Given the description of an element on the screen output the (x, y) to click on. 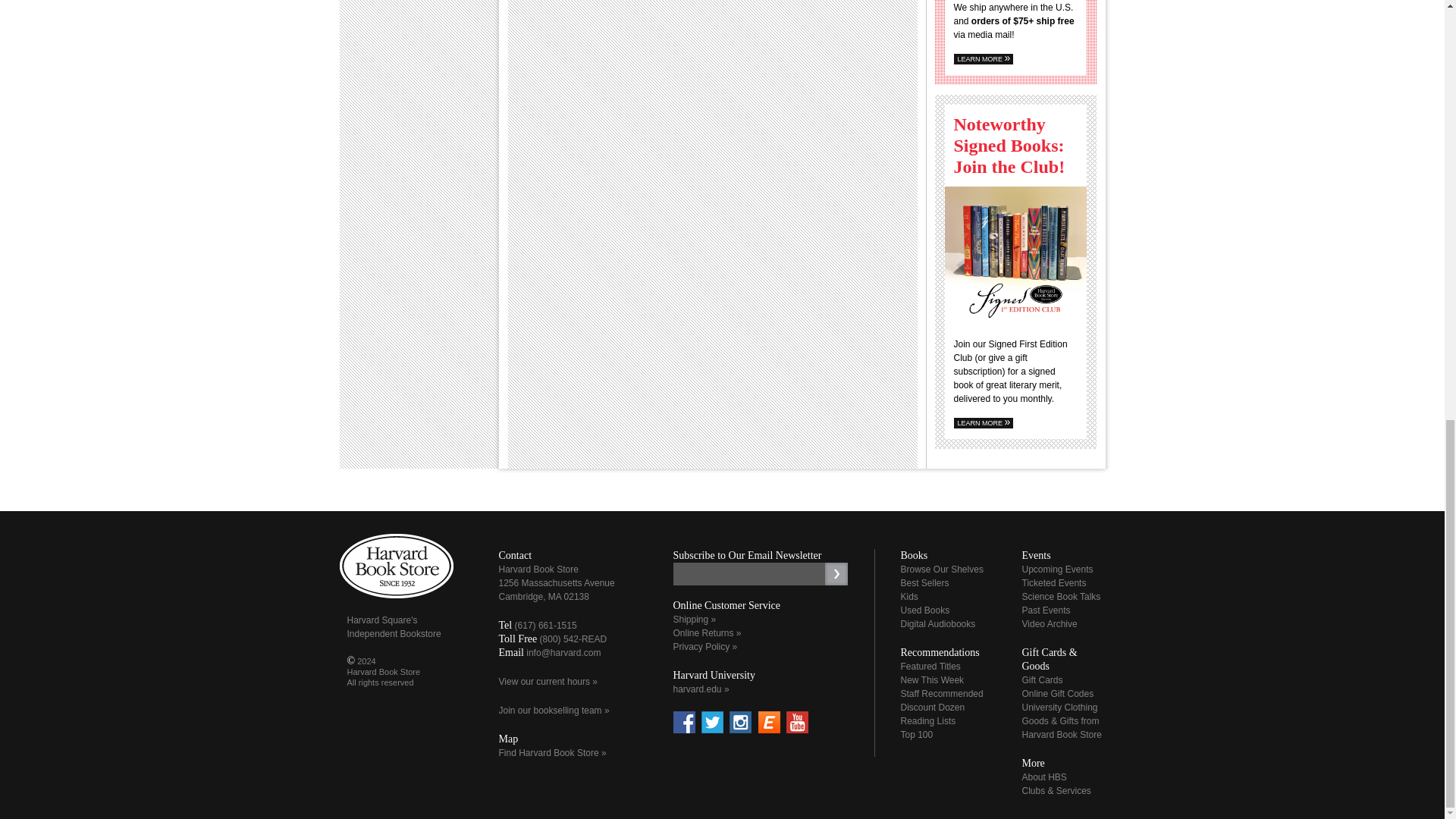
YouTube (797, 722)
Eventbrite (769, 722)
Facebook (683, 722)
Harvard Book Store (395, 565)
Twitter (712, 722)
